Given the description of an element on the screen output the (x, y) to click on. 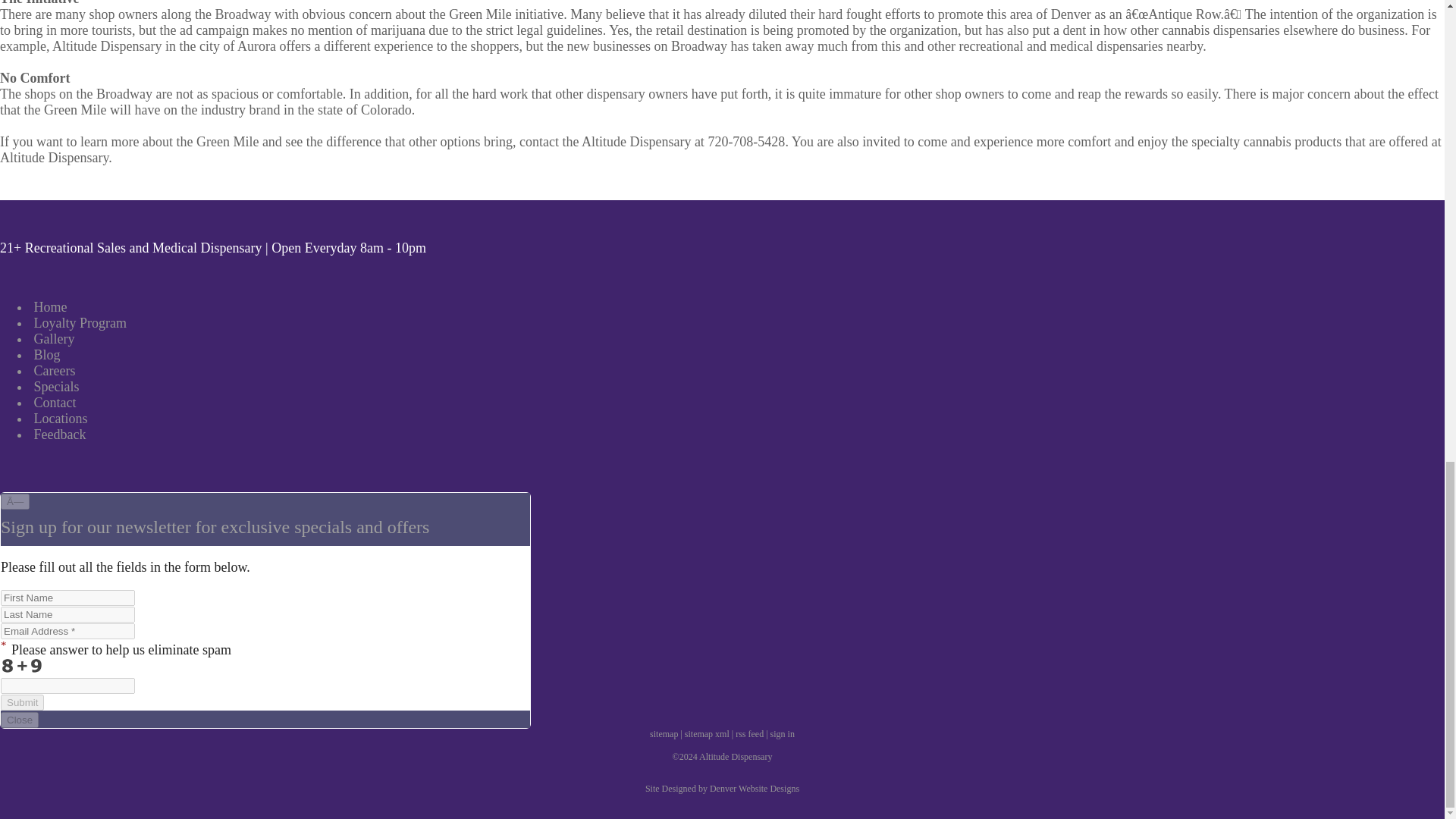
 Contact (53, 402)
Altitude Dispensary (53, 157)
 Home (48, 306)
720-708-5428 (745, 141)
 Feedback (57, 434)
sitemap xml (706, 733)
 Blog (45, 354)
 Locations (58, 418)
Submit (22, 702)
 Careers (52, 370)
 Loyalty Program (78, 322)
sitemap (663, 733)
Close (20, 719)
 Gallery (52, 338)
 Specials (55, 386)
